Given the description of an element on the screen output the (x, y) to click on. 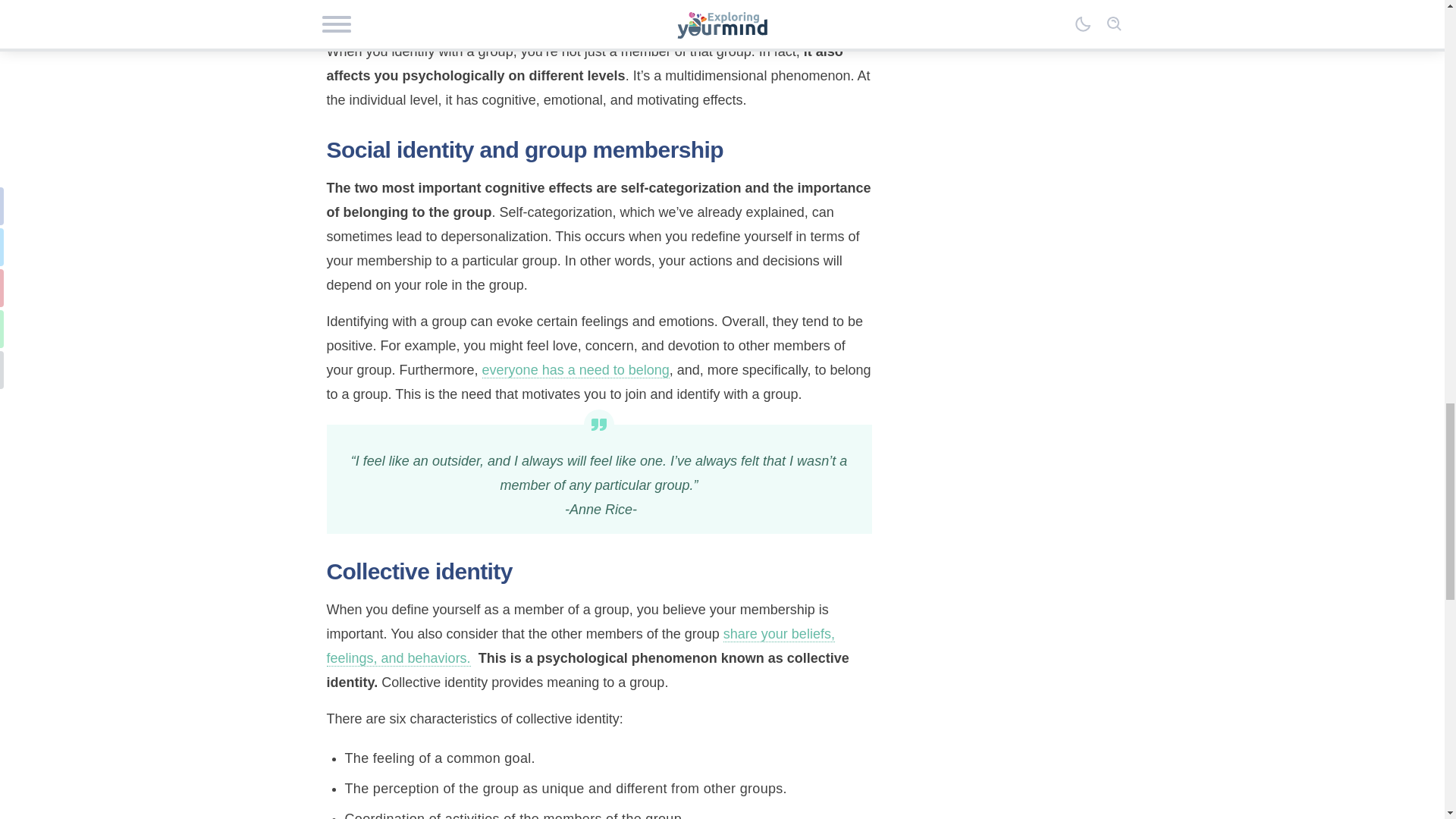
everyone has a need to belong (575, 370)
share your beliefs, feelings, and behaviors. (580, 646)
